Given the description of an element on the screen output the (x, y) to click on. 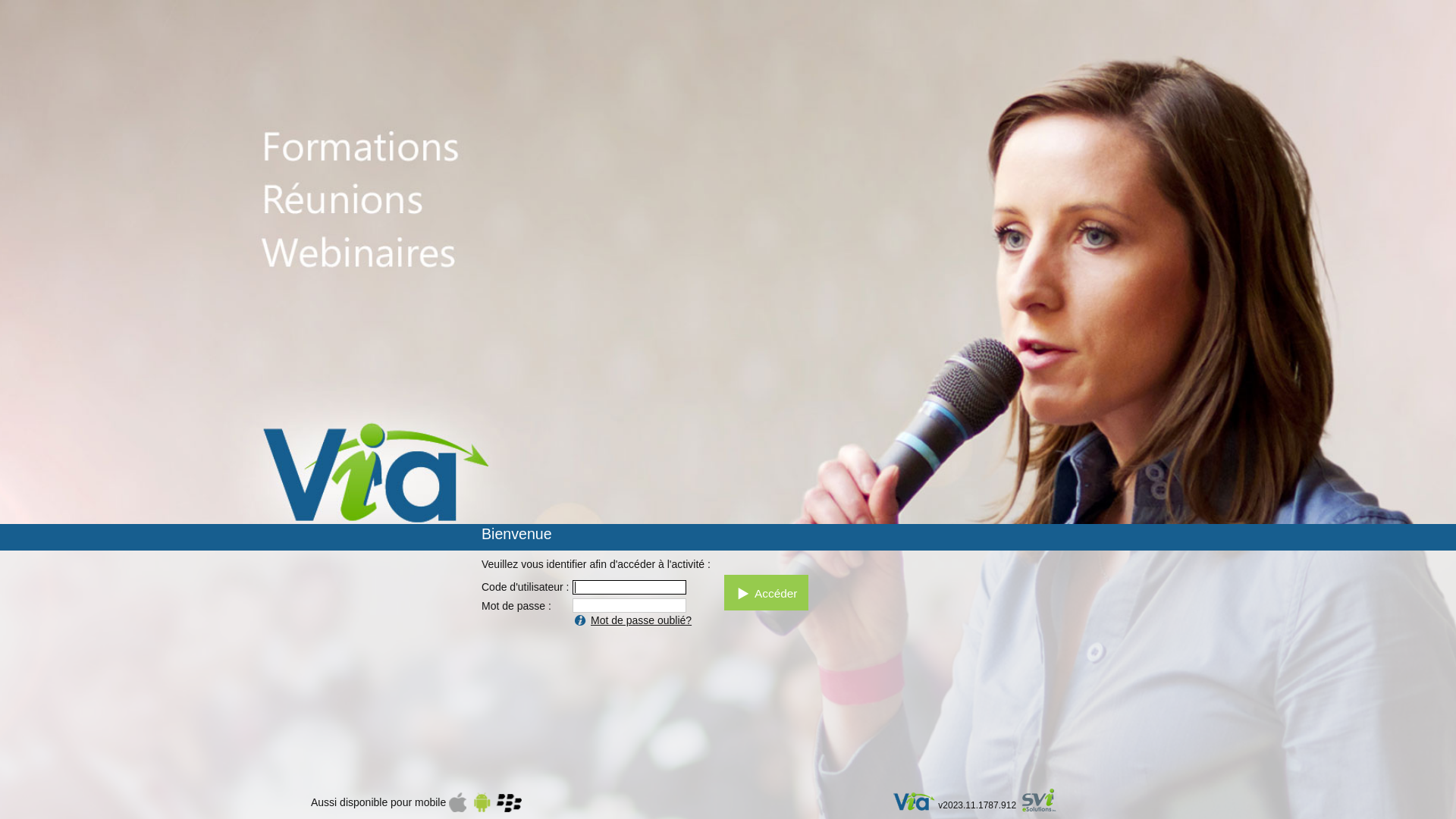
par SVI eSolutions inc. Element type: text (1046, 801)
Aussi disponible pour mobile Element type: text (415, 802)
